Given the description of an element on the screen output the (x, y) to click on. 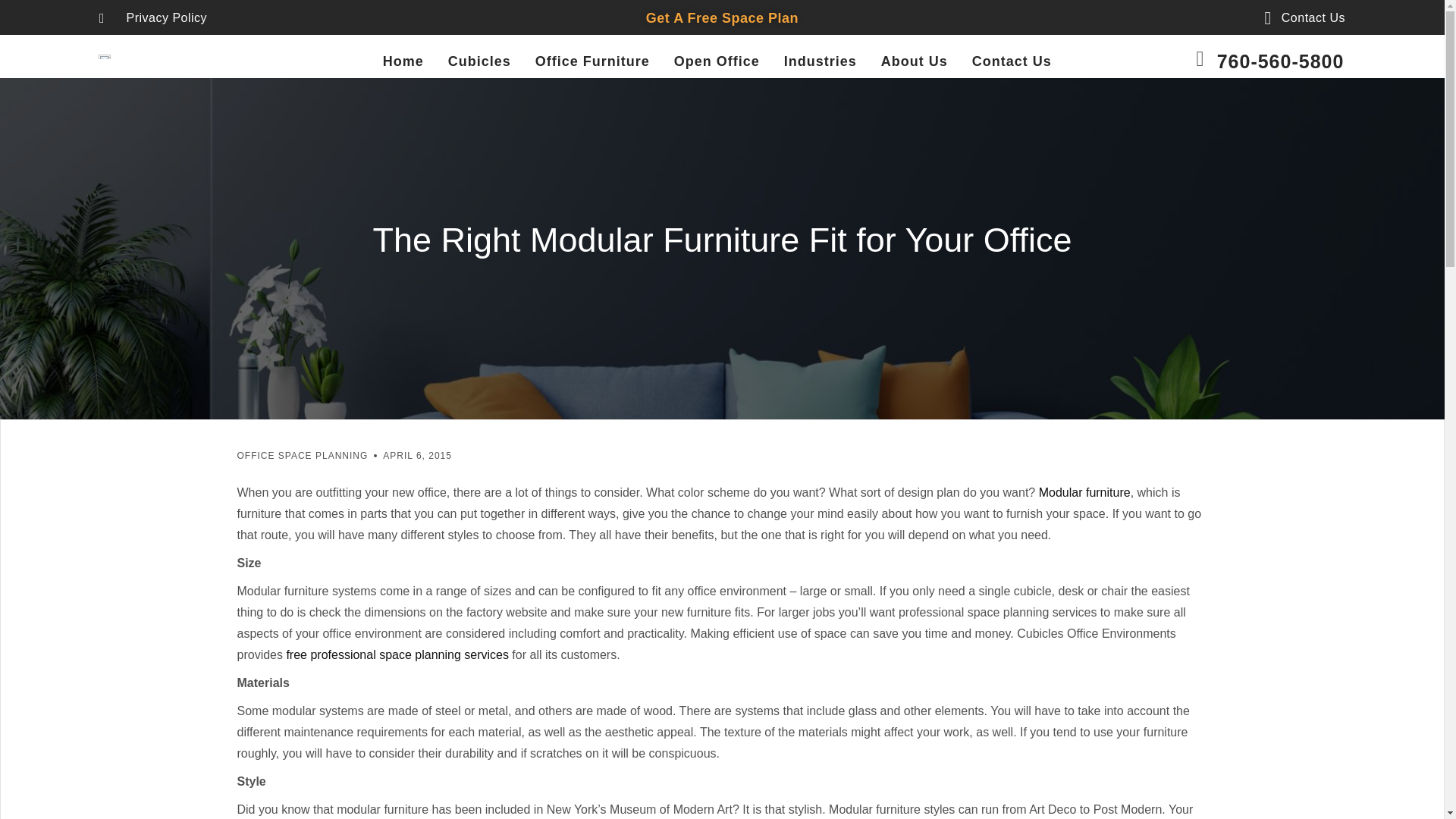
Industries (820, 61)
Cubicles (479, 61)
Contact Us (1297, 18)
About Us (913, 61)
Privacy Policy (152, 18)
Open Office (717, 61)
Home (402, 61)
Office Furniture (592, 61)
